Given the description of an element on the screen output the (x, y) to click on. 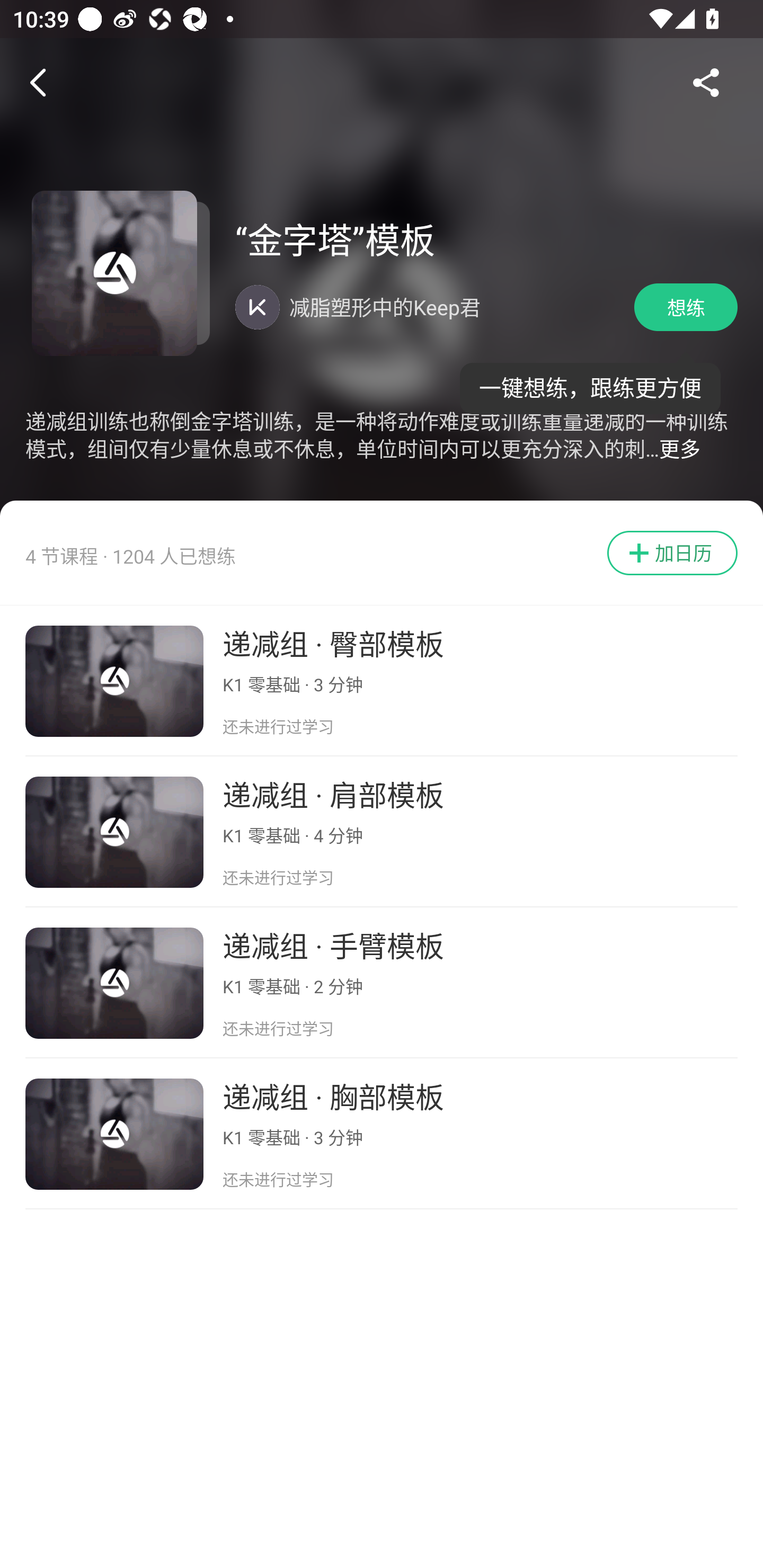
一键想练，跟练更方便 (590, 381)
